Given the description of an element on the screen output the (x, y) to click on. 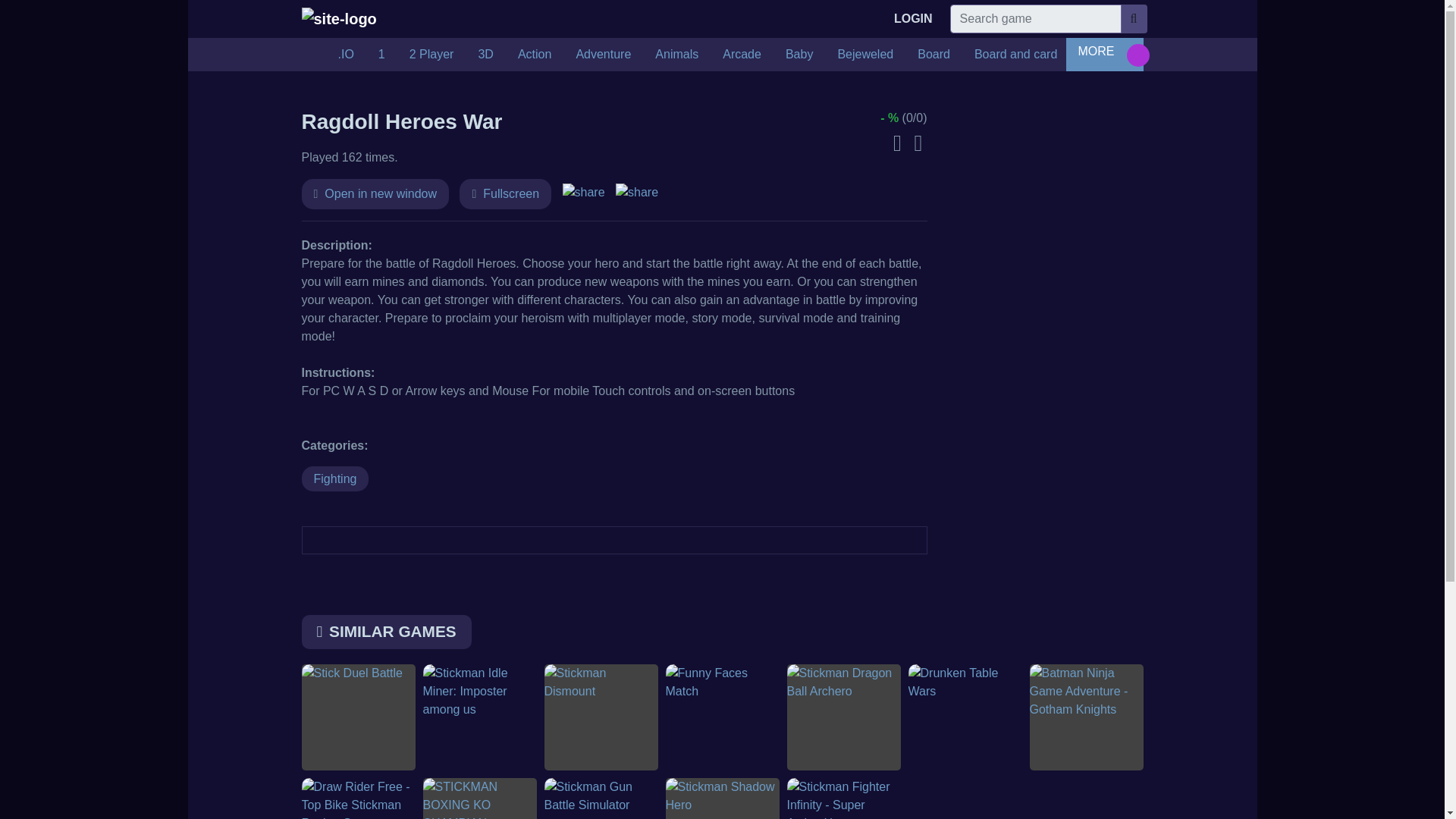
Animals (676, 54)
3D (485, 54)
LOGIN (913, 19)
Board and card (1015, 54)
Board (933, 54)
Action (534, 54)
Baby (799, 54)
.IO (346, 54)
Adventure (603, 54)
Arcade (741, 54)
